Given the description of an element on the screen output the (x, y) to click on. 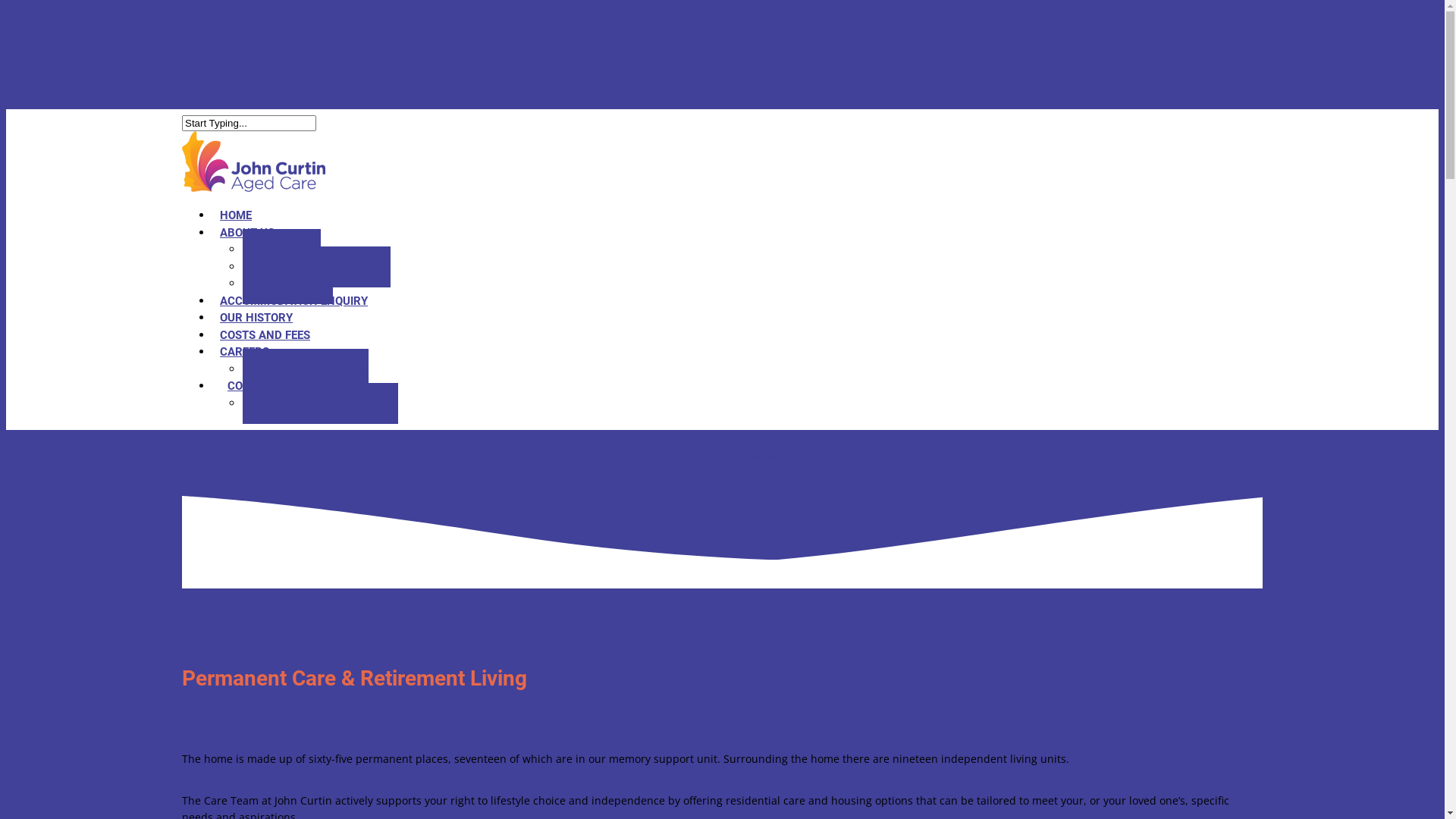
ABOUT US Element type: text (247, 232)
COSTS AND FEES Element type: text (264, 334)
FEEDBACK AND COMPLAINTS Element type: text (320, 402)
COVID-19 Updates Element type: text (721, 454)
STUDENT PLACEMENTS Element type: text (305, 368)
CONTACT US Element type: text (261, 385)
ANNUAL REPORT Element type: text (287, 283)
ACCOMMODATION ENQUIRY Element type: text (293, 300)
ANNUAL GENERAL MEETING Element type: text (316, 265)
MANAGEMENT Element type: text (281, 249)
CAREERS Element type: text (244, 351)
OUR HISTORY Element type: text (256, 317)
HOME Element type: text (235, 214)
